Given the description of an element on the screen output the (x, y) to click on. 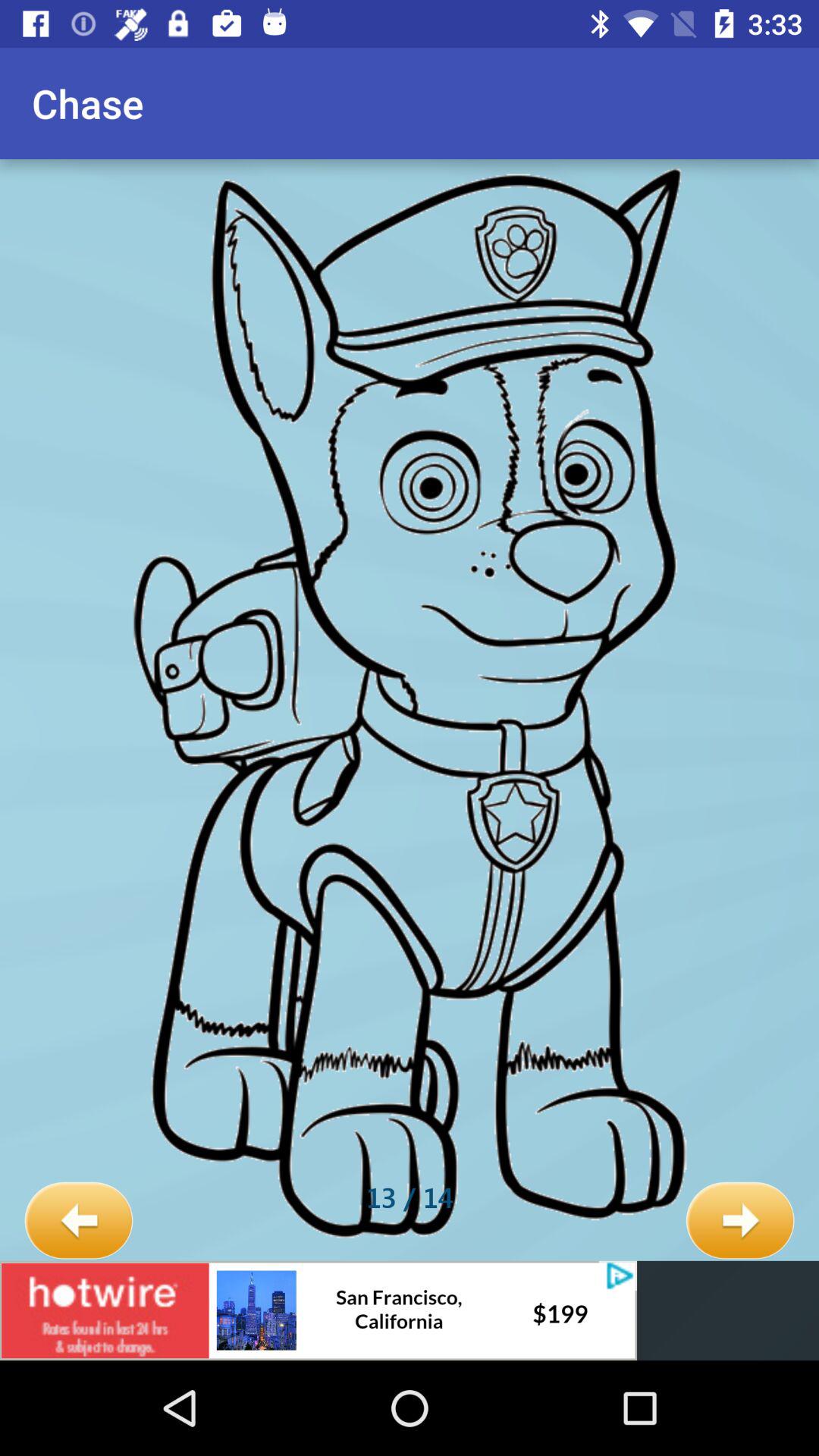
select icon next to 13 / 14 item (740, 1220)
